Given the description of an element on the screen output the (x, y) to click on. 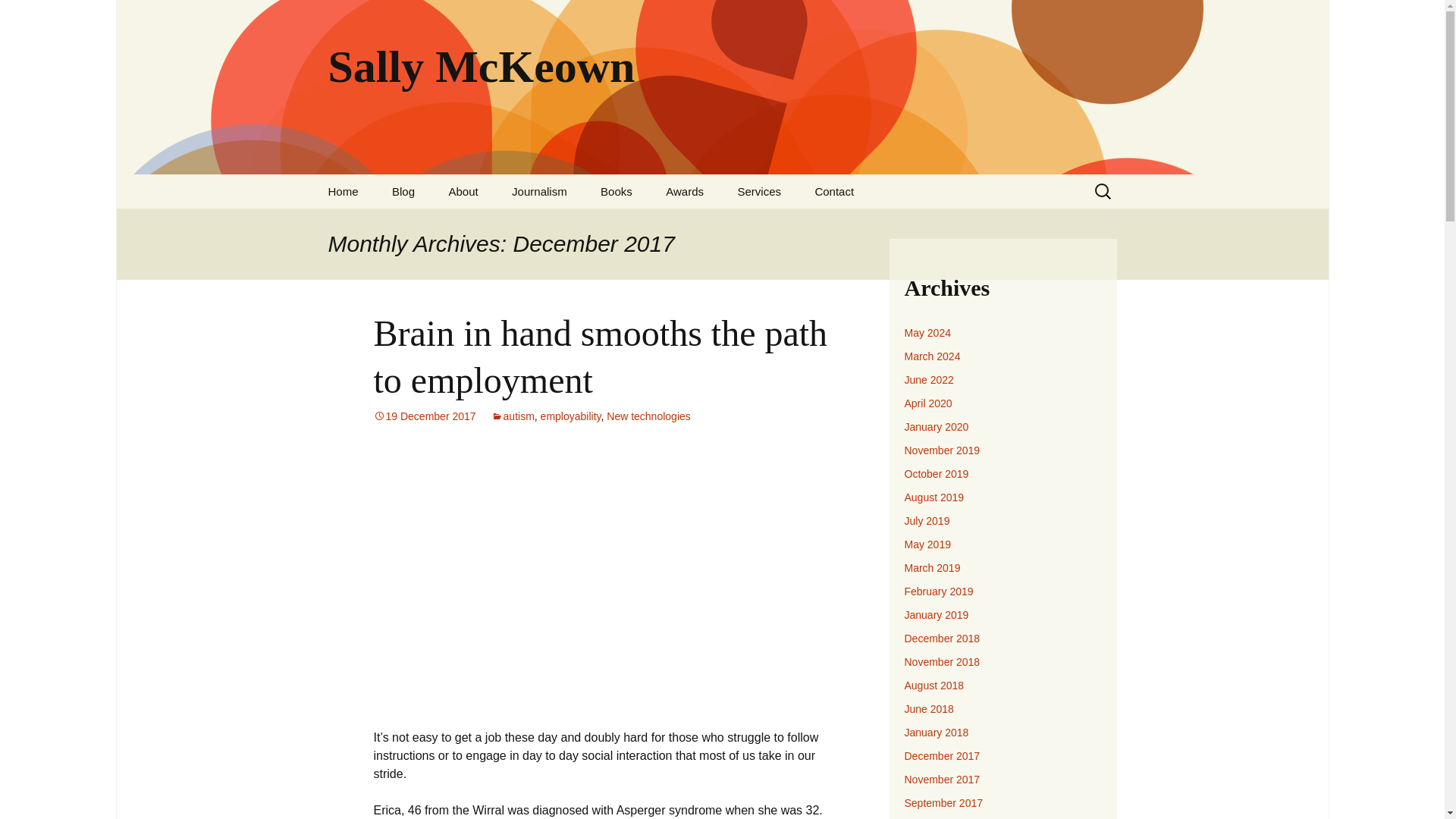
June 2018 (928, 708)
employability (570, 416)
July 2019 (926, 521)
Brain in hand smooths the path to employment (599, 356)
Journalism (539, 191)
January 2018 (936, 732)
December 2018 (941, 638)
March 2019 (931, 567)
June 2022 (928, 379)
May 2019 (927, 544)
